Given the description of an element on the screen output the (x, y) to click on. 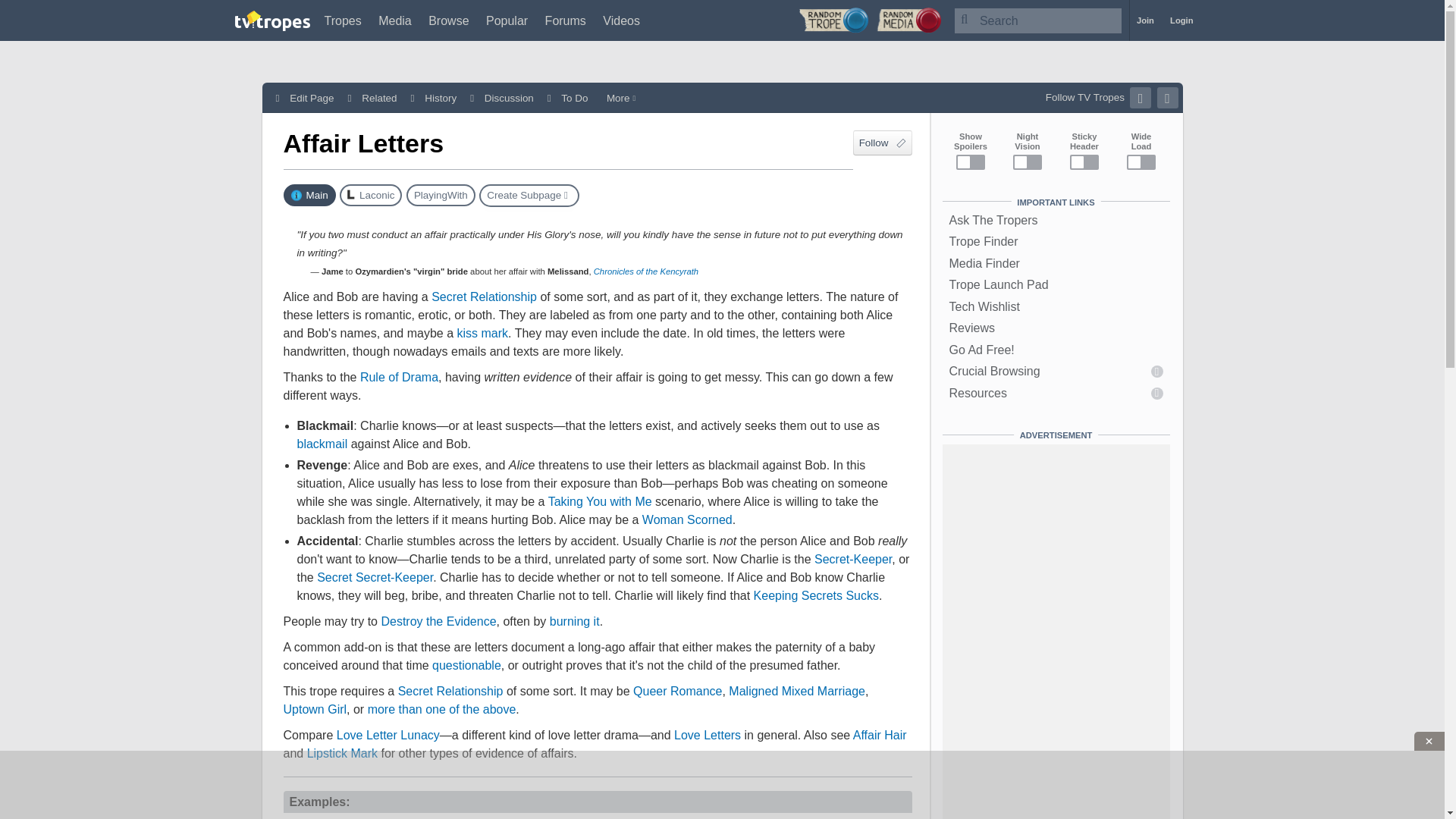
The PlayingWith page (441, 195)
The Laconic page (370, 195)
Browse (448, 20)
Login (1181, 20)
The Main page (309, 195)
Tropes (342, 20)
Media (395, 20)
Forums (565, 20)
Videos (621, 20)
3rd party ad content (722, 785)
Popular (506, 20)
